Given the description of an element on the screen output the (x, y) to click on. 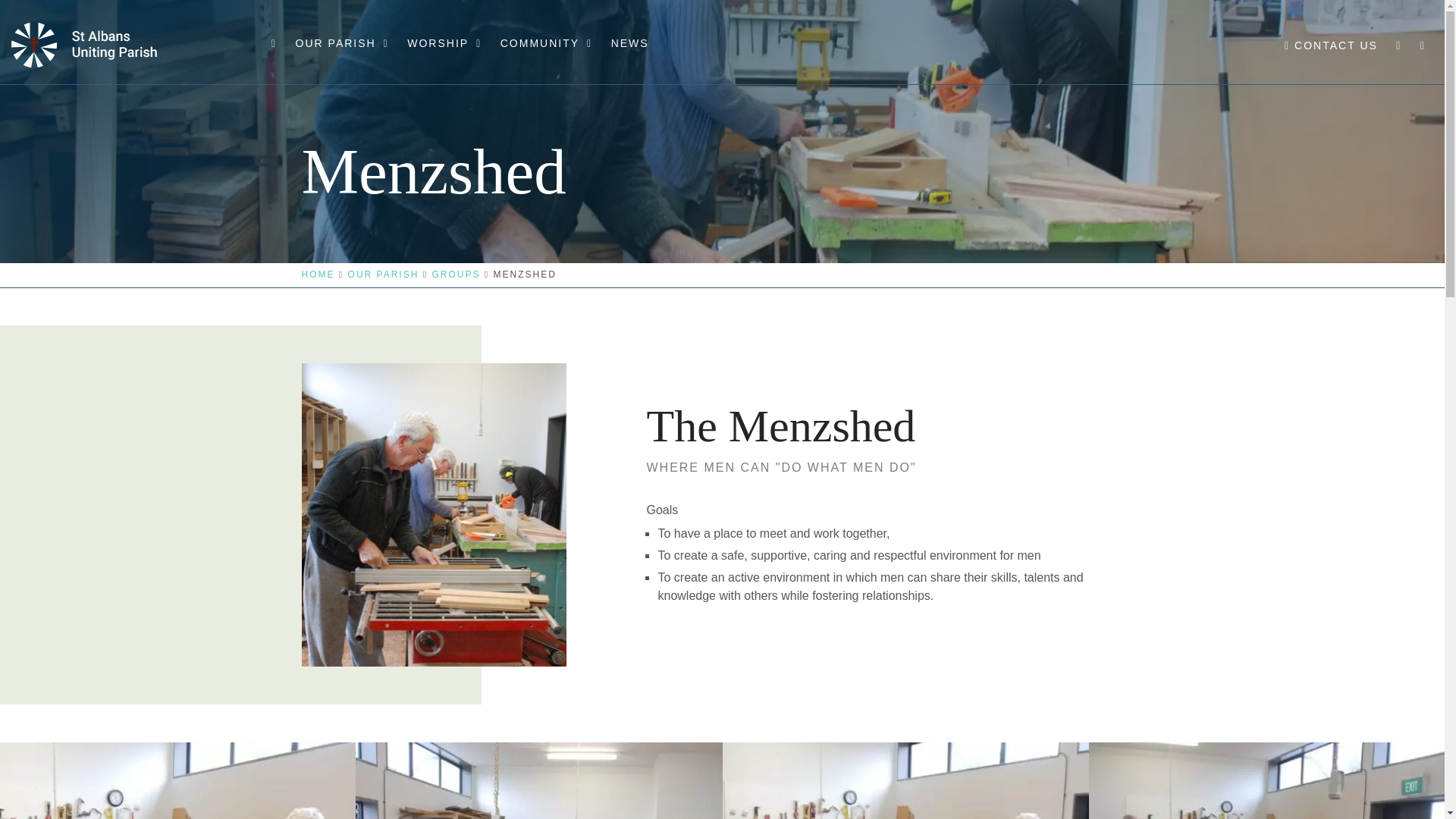
OUR PARISH (341, 59)
